Given the description of an element on the screen output the (x, y) to click on. 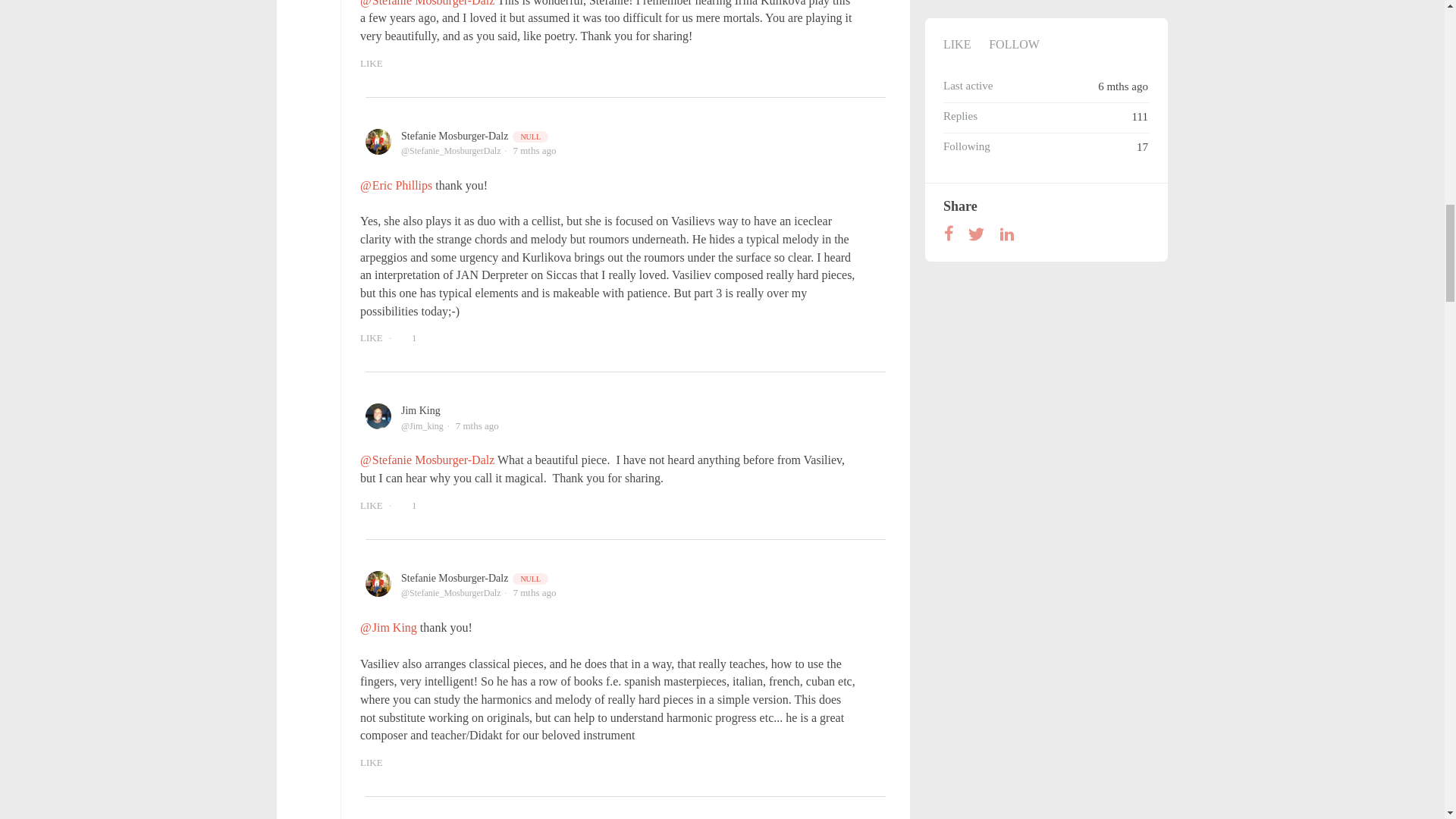
Stefanie Mosburger-DalzNULL (475, 135)
Stefanie Mosburger-DalzNULL (475, 577)
Jim King (421, 410)
